Given the description of an element on the screen output the (x, y) to click on. 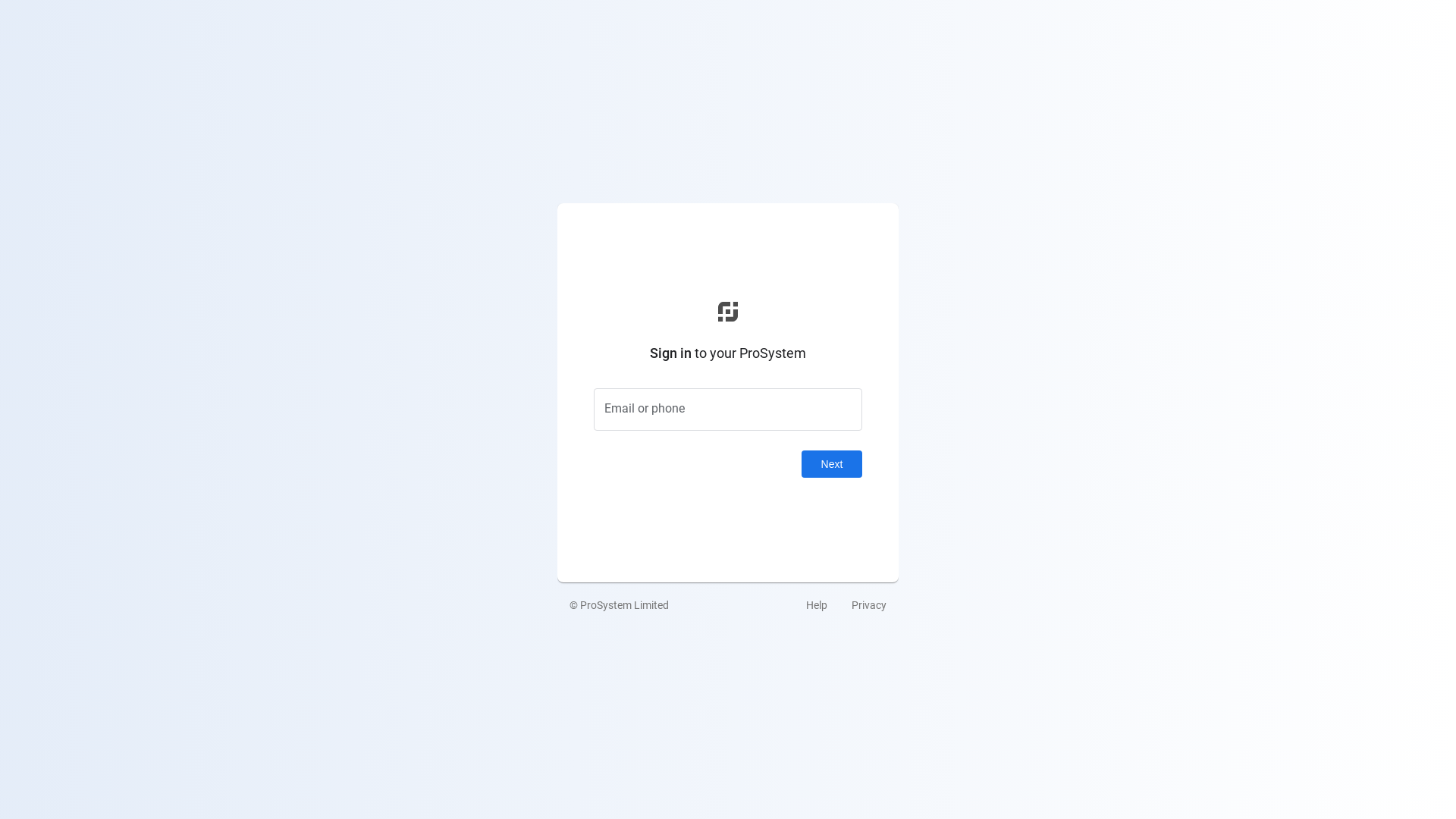
Help Element type: text (816, 605)
Privacy Element type: text (868, 605)
Next Element type: text (831, 463)
